Given the description of an element on the screen output the (x, y) to click on. 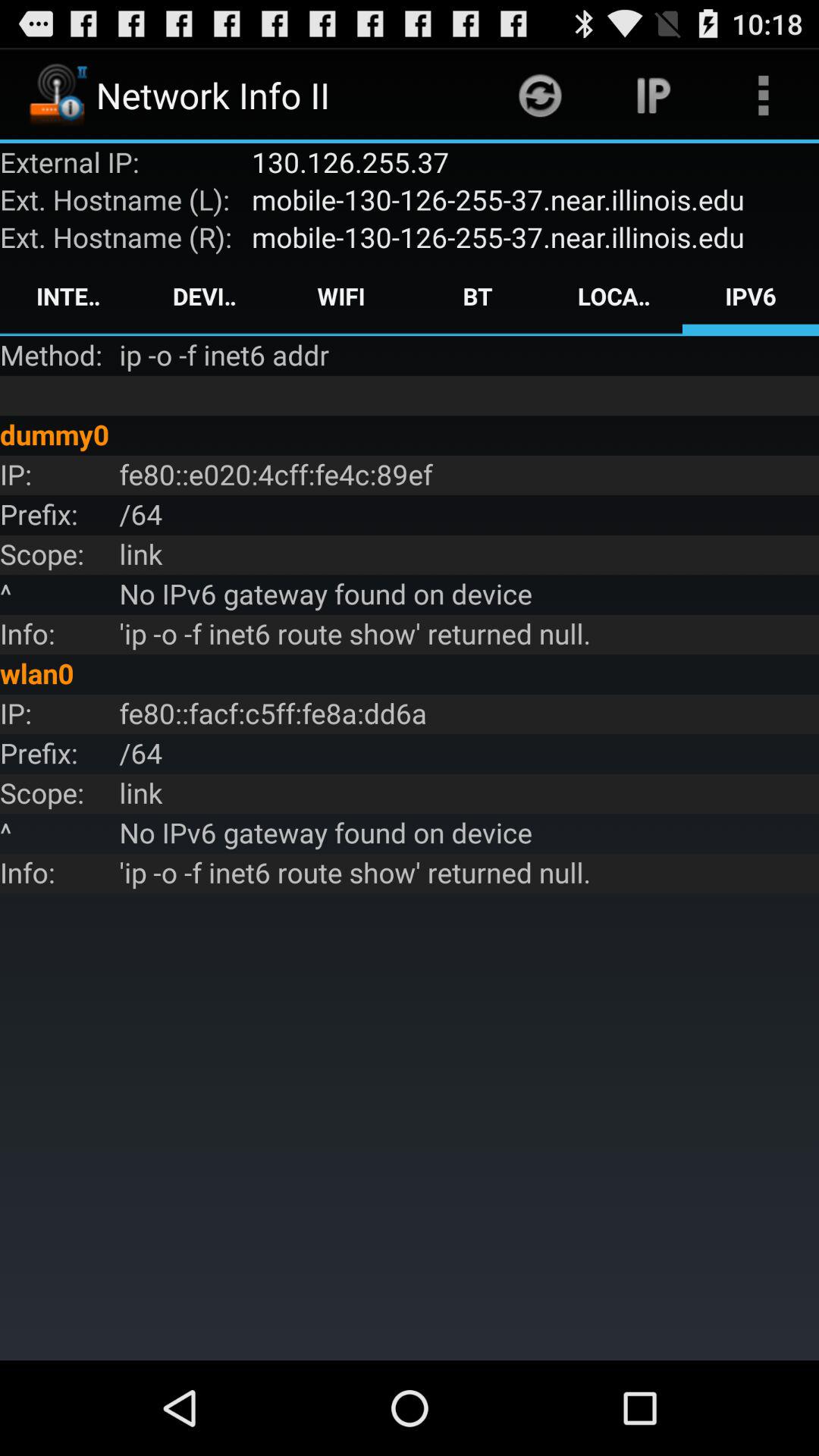
select the location item (614, 295)
